Given the description of an element on the screen output the (x, y) to click on. 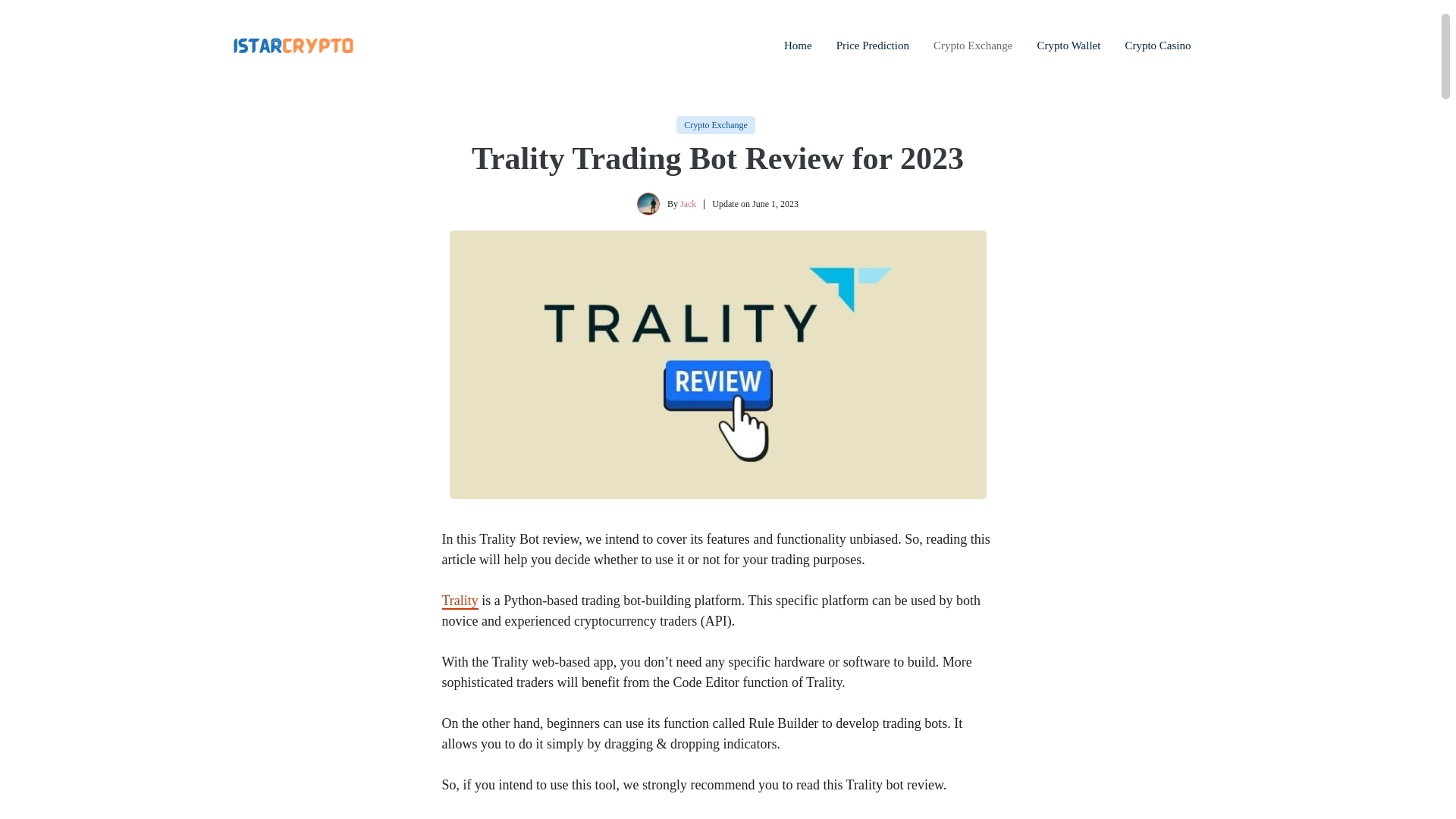
Home (797, 44)
Crypto Exchange (973, 44)
Crypto Exchange (716, 124)
Crypto Wallet (1068, 44)
Trality (459, 600)
Jack (687, 204)
Price Prediction (872, 44)
Crypto Casino (1157, 44)
